Given the description of an element on the screen output the (x, y) to click on. 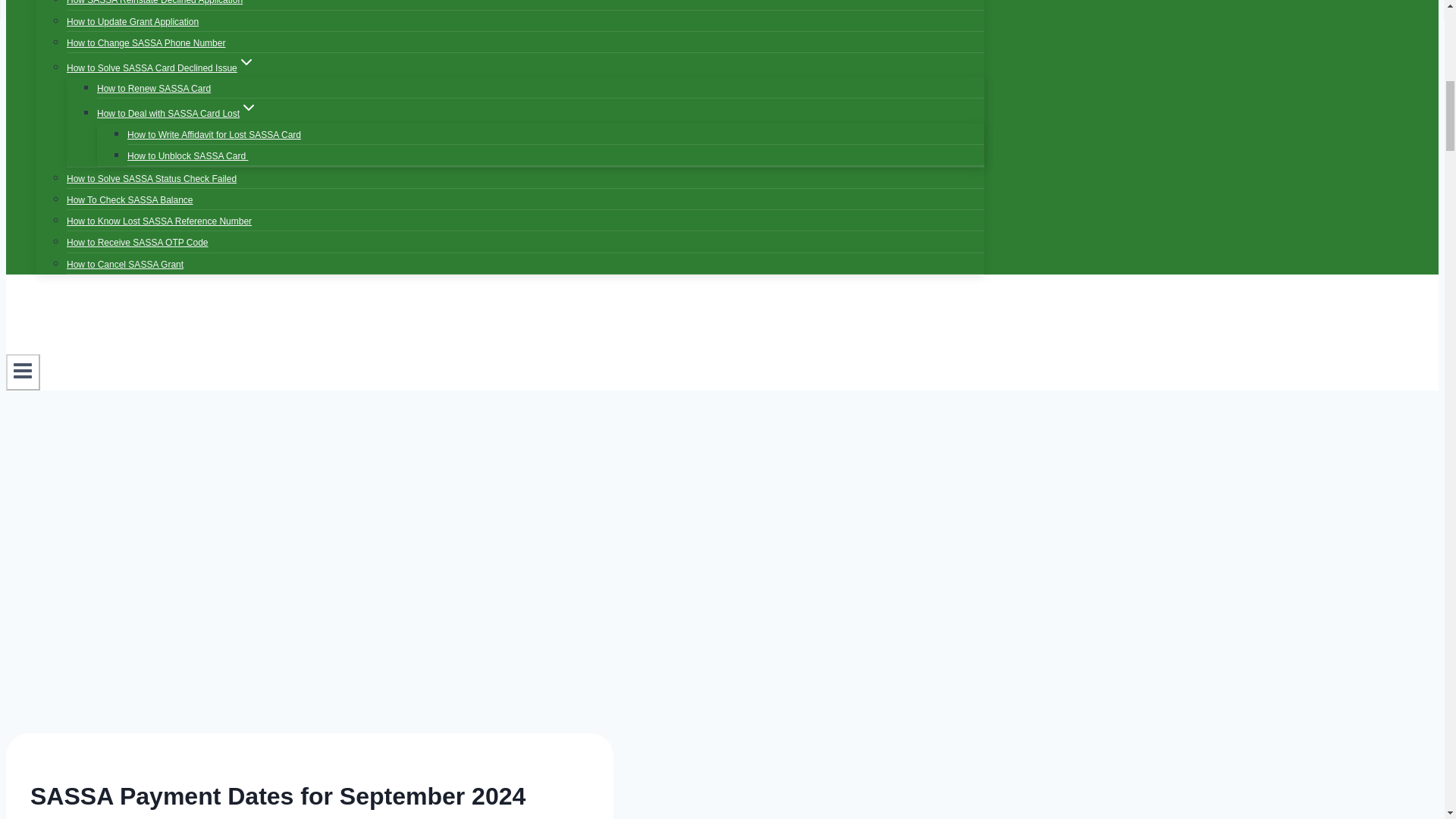
Expand (248, 107)
How to Deal with SASSA Card LostExpand (177, 113)
How to Change SASSA Phone Number (145, 42)
How to Update Grant Application (132, 21)
How SASSA Reinstate Declined Application (154, 7)
How to Solve SASSA Card Declined IssueExpand (161, 68)
Expand (246, 62)
How to Renew SASSA Card (154, 88)
